Given the description of an element on the screen output the (x, y) to click on. 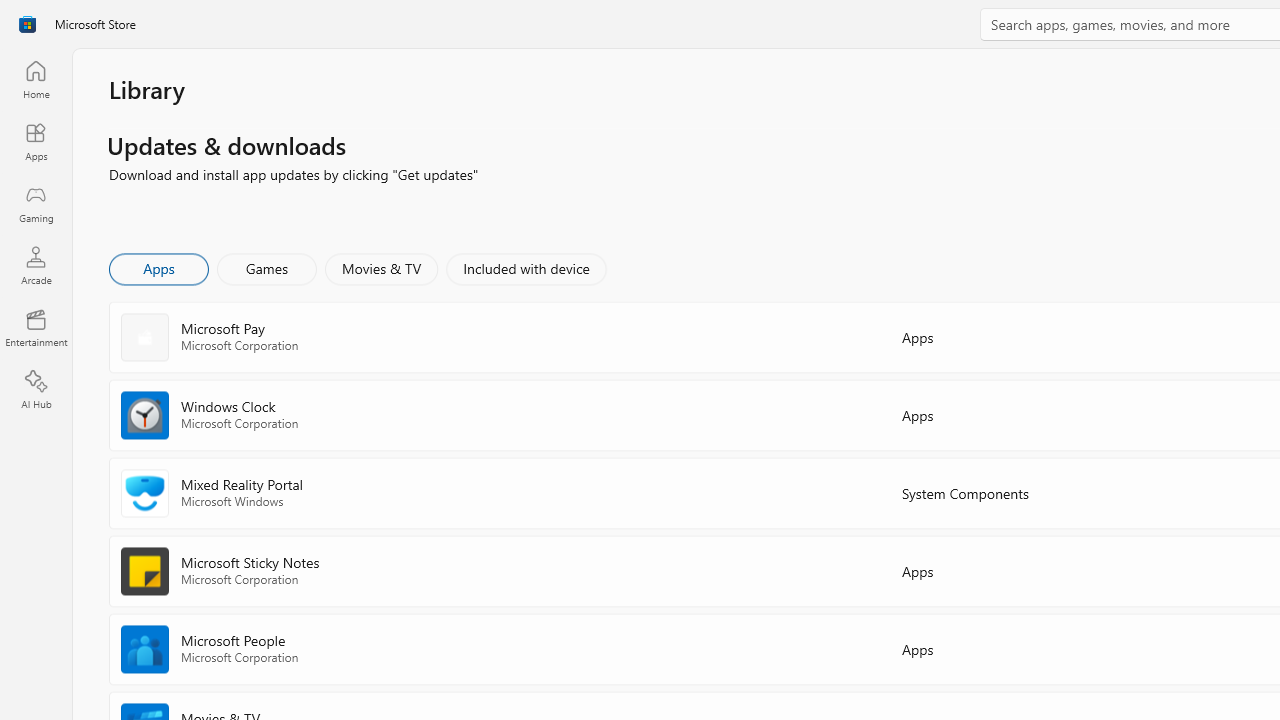
Home (35, 79)
Entertainment (35, 327)
Gaming (35, 203)
Arcade (35, 265)
Included with device (525, 268)
AI Hub (35, 390)
Apps (158, 268)
Movies & TV (381, 268)
Games (267, 268)
Apps (35, 141)
Class: Image (27, 24)
